Given the description of an element on the screen output the (x, y) to click on. 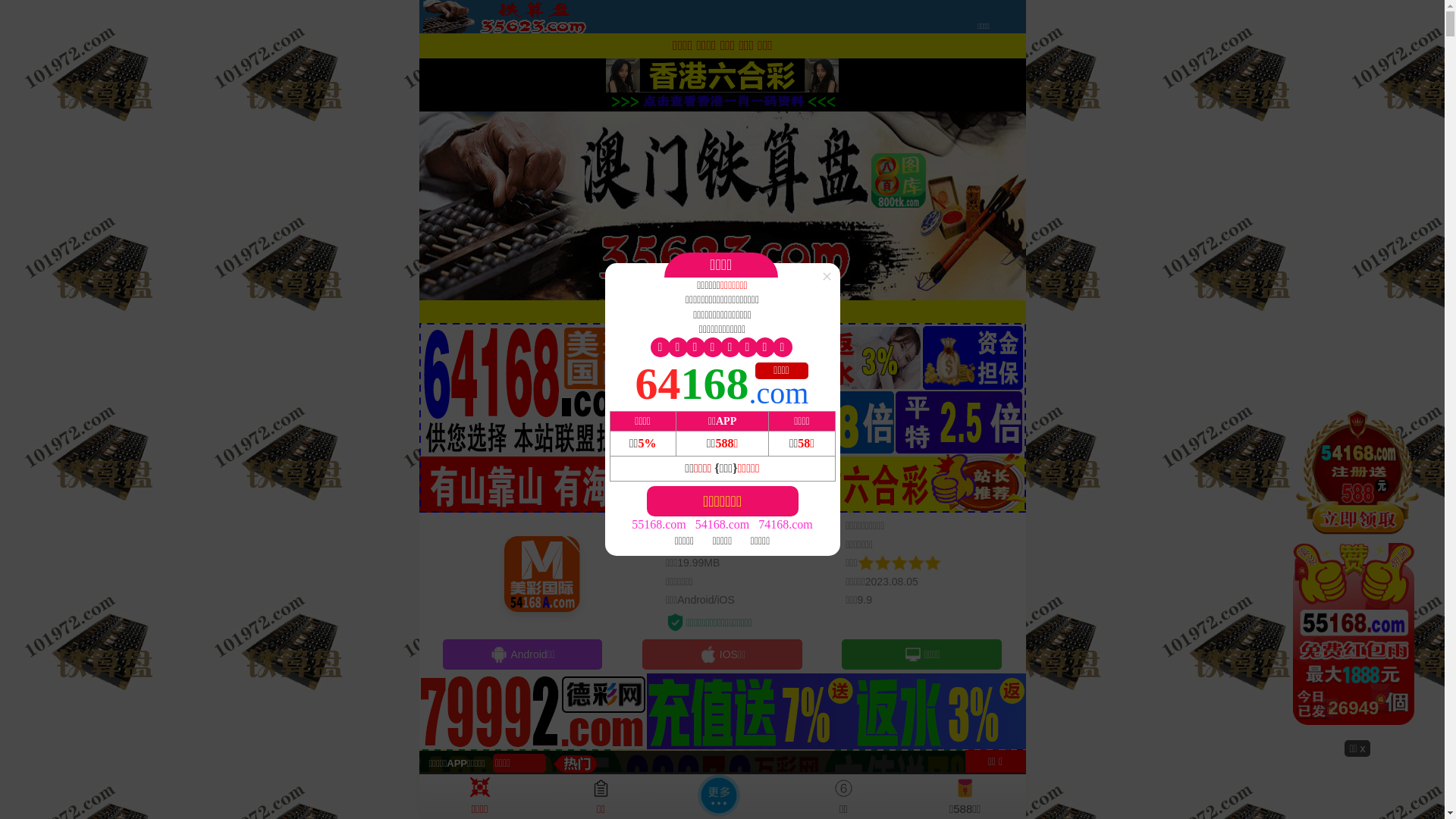
27049 Element type: text (1356, 572)
